Given the description of an element on the screen output the (x, y) to click on. 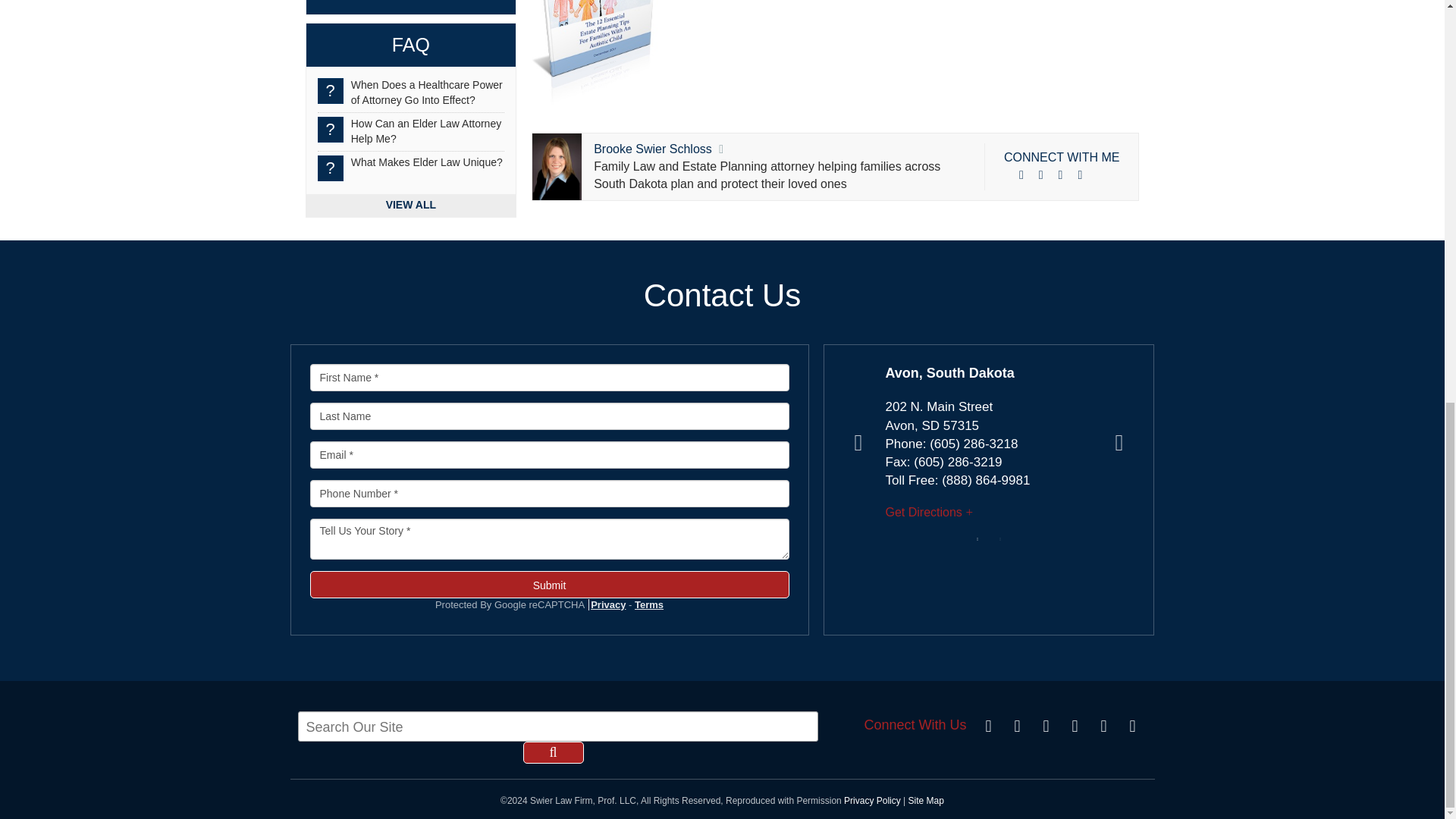
Search (552, 752)
